Given the description of an element on the screen output the (x, y) to click on. 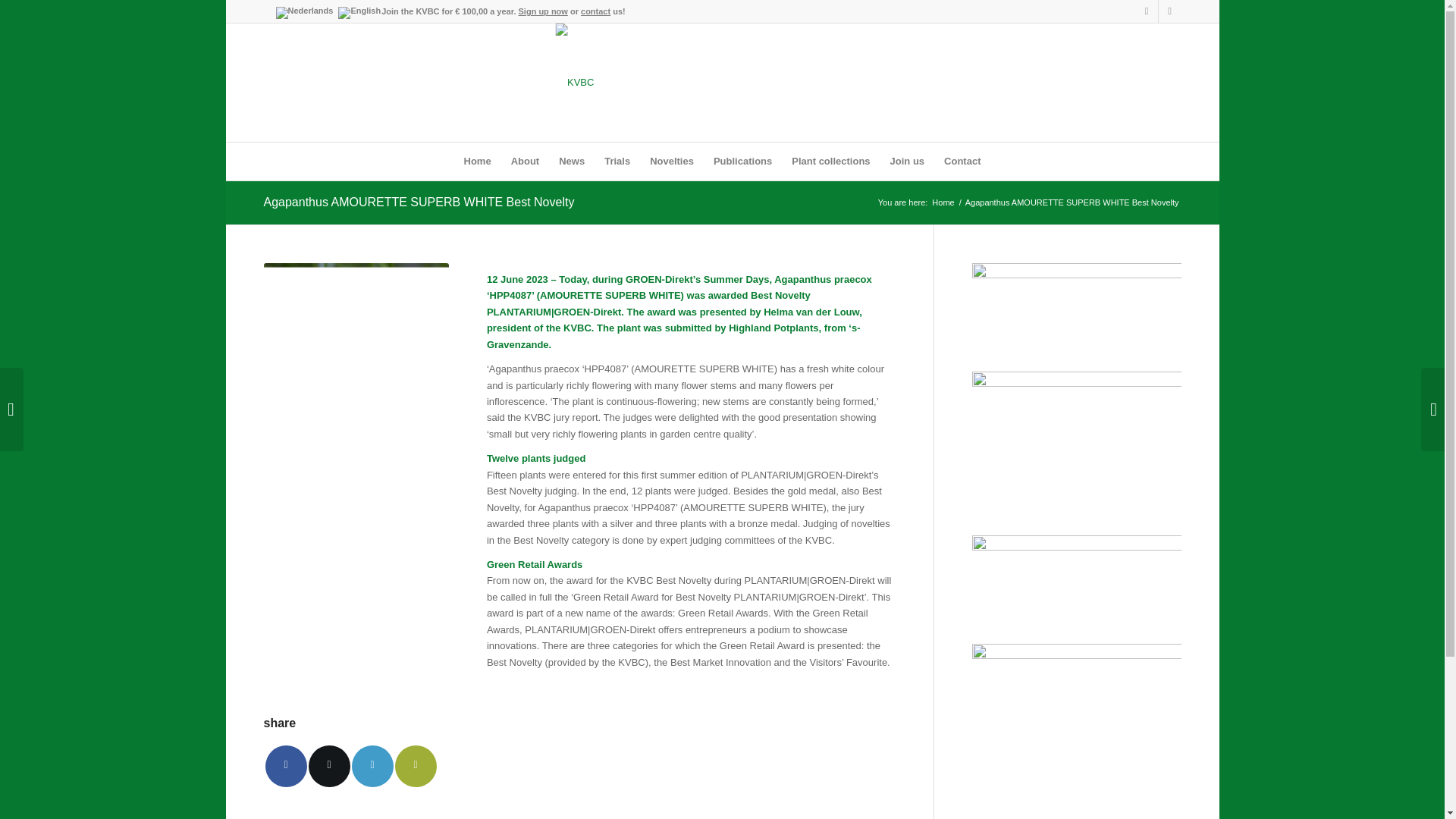
KVBC-Logo (721, 82)
Publications (742, 161)
About (525, 161)
Plant collections (830, 161)
English (359, 12)
Trials (617, 161)
Agapanthus AMOURETTE SUPERB WHITE Best Novelty (419, 201)
Novelties (671, 161)
Home (477, 161)
